Given the description of an element on the screen output the (x, y) to click on. 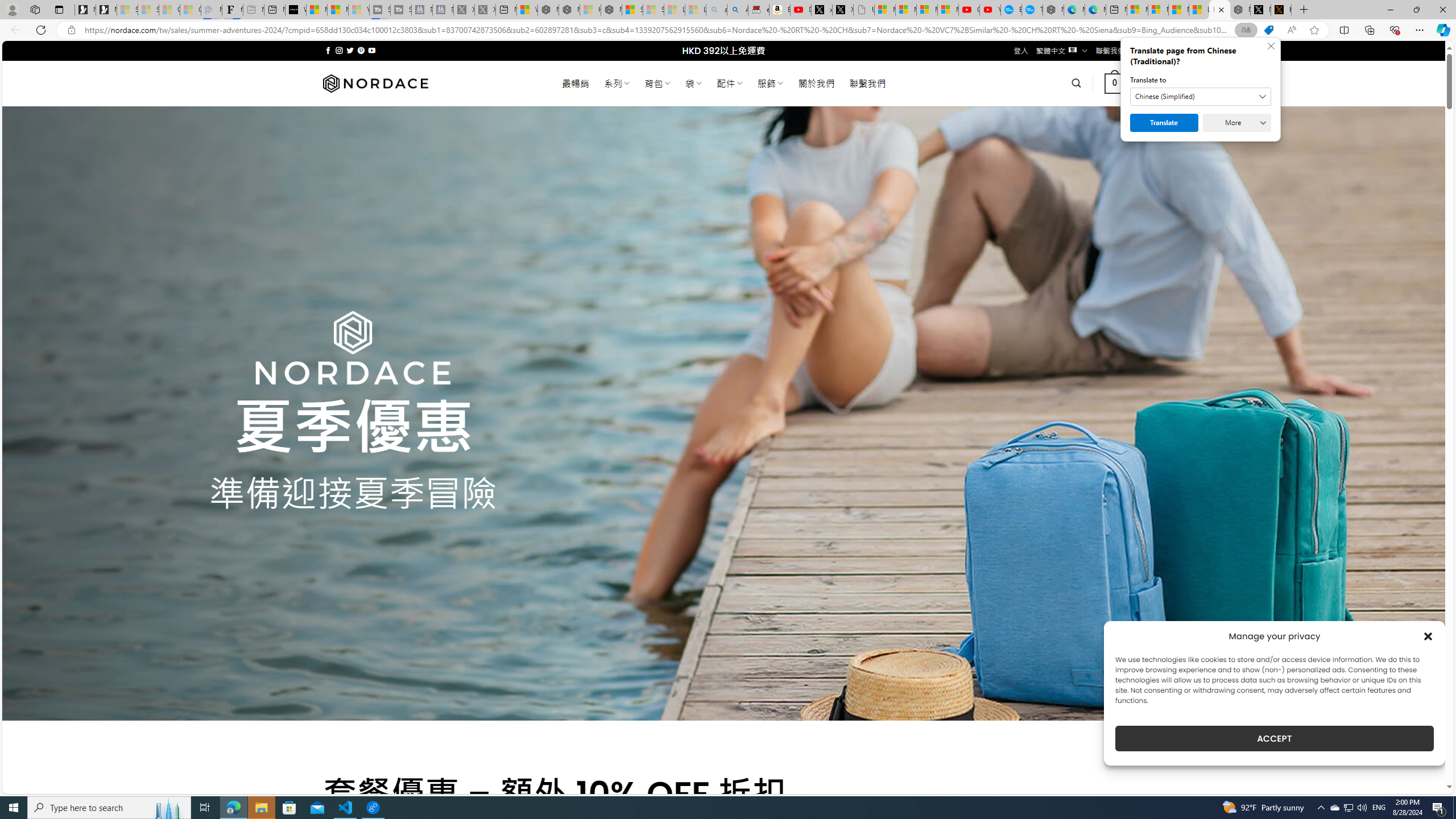
Show translate options (1245, 29)
Microsoft account | Microsoft Account Privacy Settings (1137, 9)
Newsletter Sign Up (106, 9)
Follow on Twitter (349, 50)
  0   (1115, 83)
Nordace - Nordace Siena Is Not An Ordinary Backpack (610, 9)
 0  (1115, 83)
